Given the description of an element on the screen output the (x, y) to click on. 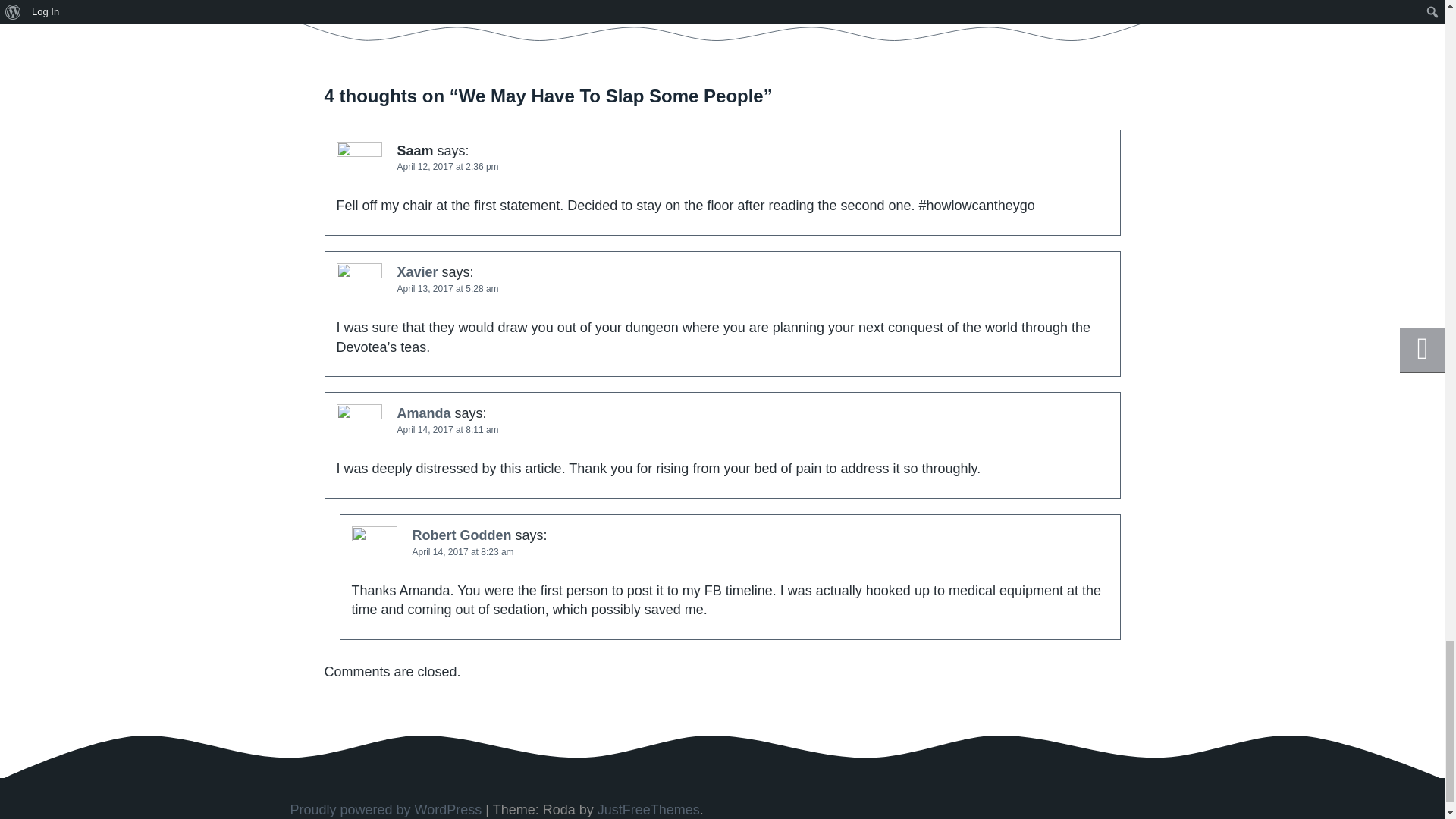
Robert Godden (462, 534)
April 14, 2017 at 8:23 am (462, 552)
April 14, 2017 at 8:11 am (448, 429)
JustFreeThemes (648, 809)
April 12, 2017 at 2:36 pm (448, 166)
Xavier (417, 272)
April 13, 2017 at 5:28 am (448, 288)
Proudly powered by WordPress (385, 809)
Amanda (424, 412)
